Given the description of an element on the screen output the (x, y) to click on. 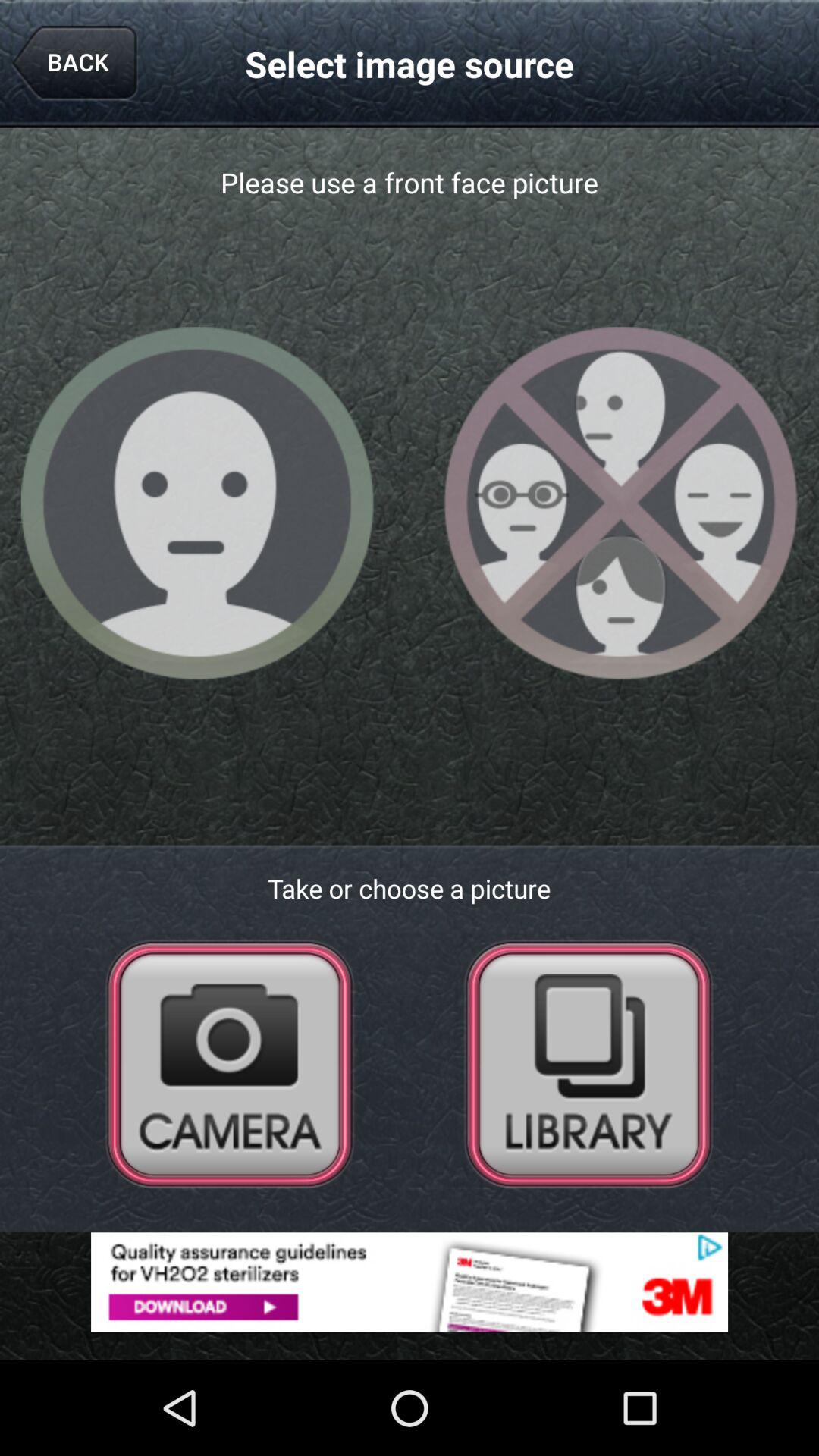
advertisement link (409, 1282)
